Given the description of an element on the screen output the (x, y) to click on. 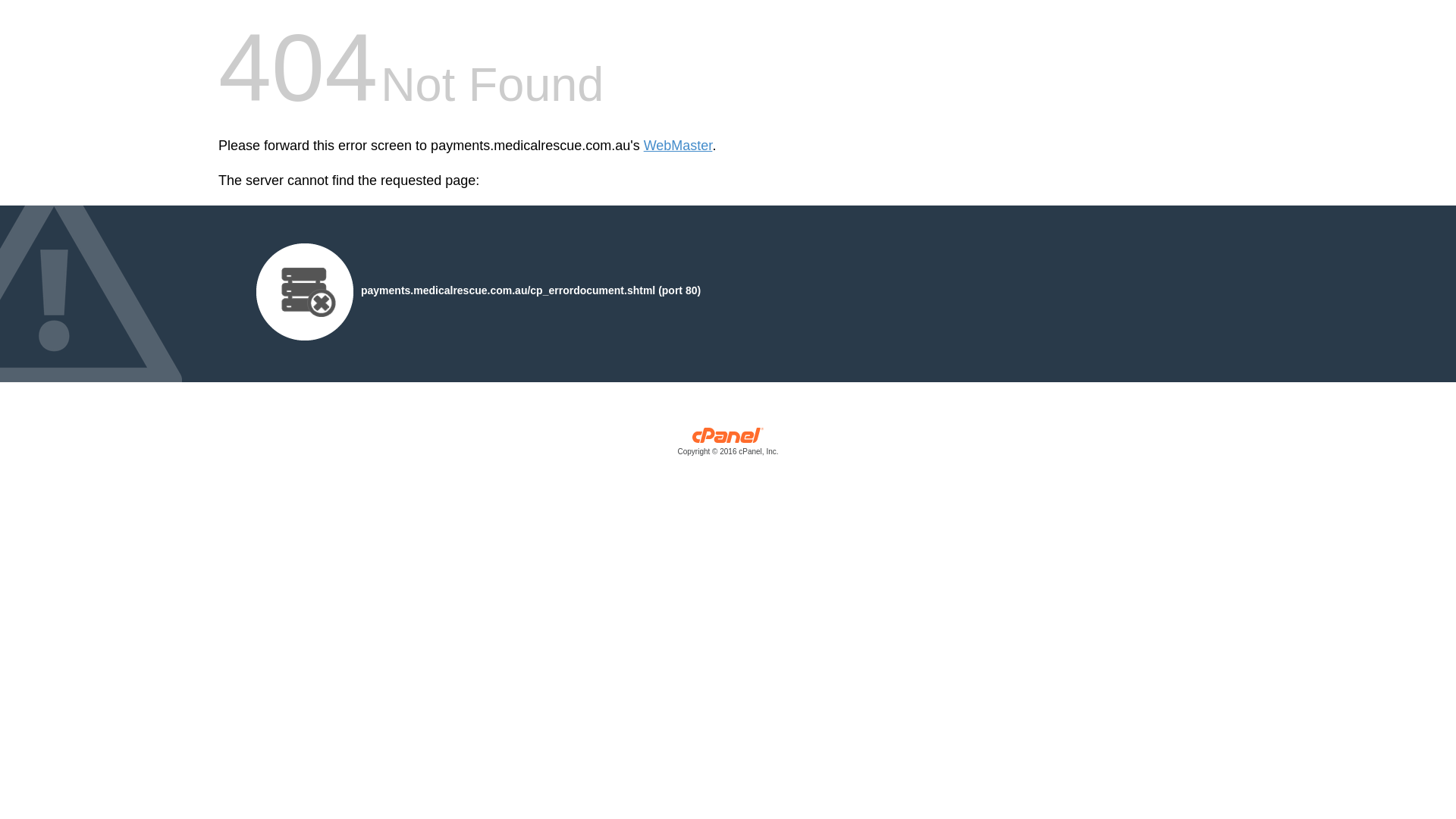
WebMaster Element type: text (677, 145)
